Given the description of an element on the screen output the (x, y) to click on. 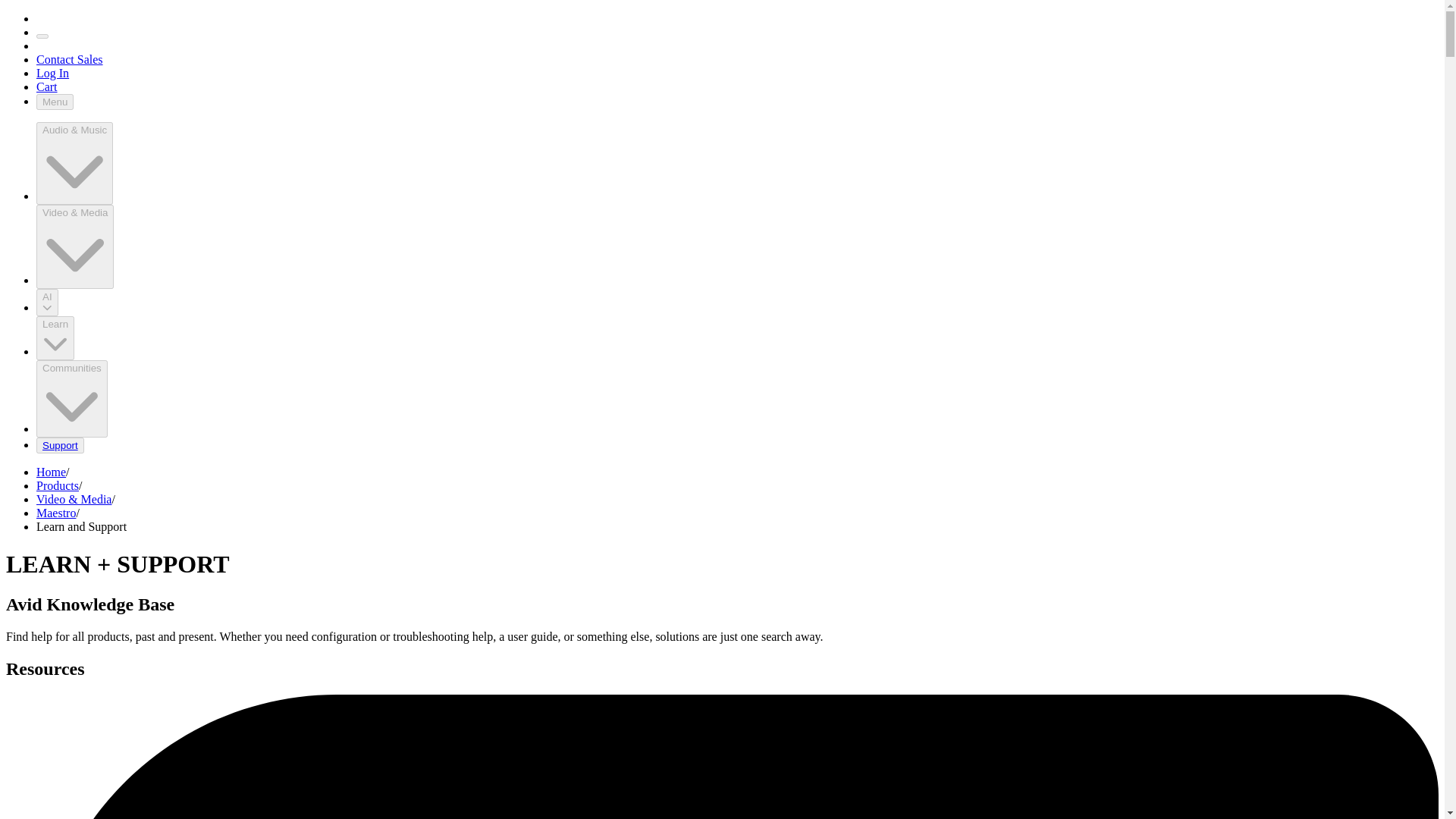
Products (57, 485)
Log In (52, 72)
Maestro (55, 512)
Cart (47, 86)
Support (60, 445)
Home (50, 472)
Communities (71, 398)
Support (60, 445)
Menu (55, 101)
Contact Sales (69, 59)
